Given the description of an element on the screen output the (x, y) to click on. 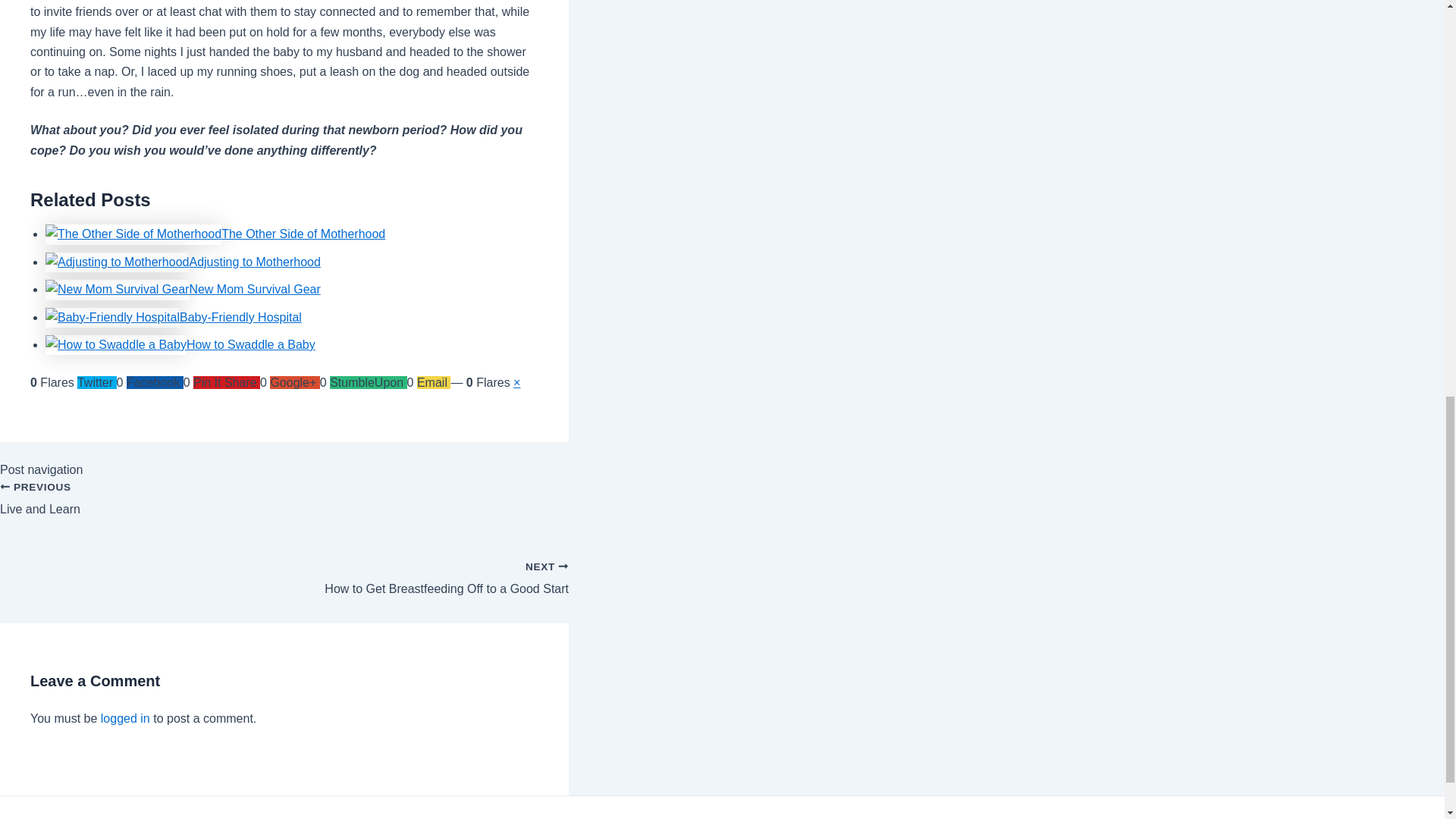
How to Get Breastfeeding Off to a Good Start (284, 570)
Adjusting to Motherhood (254, 261)
Baby-Friendly Hospital (284, 507)
logged in (240, 317)
The Other Side of Motherhood (124, 717)
New Mom Survival Gear (303, 233)
How to Swaddle a Baby (254, 288)
Live and Learn (250, 344)
